Given the description of an element on the screen output the (x, y) to click on. 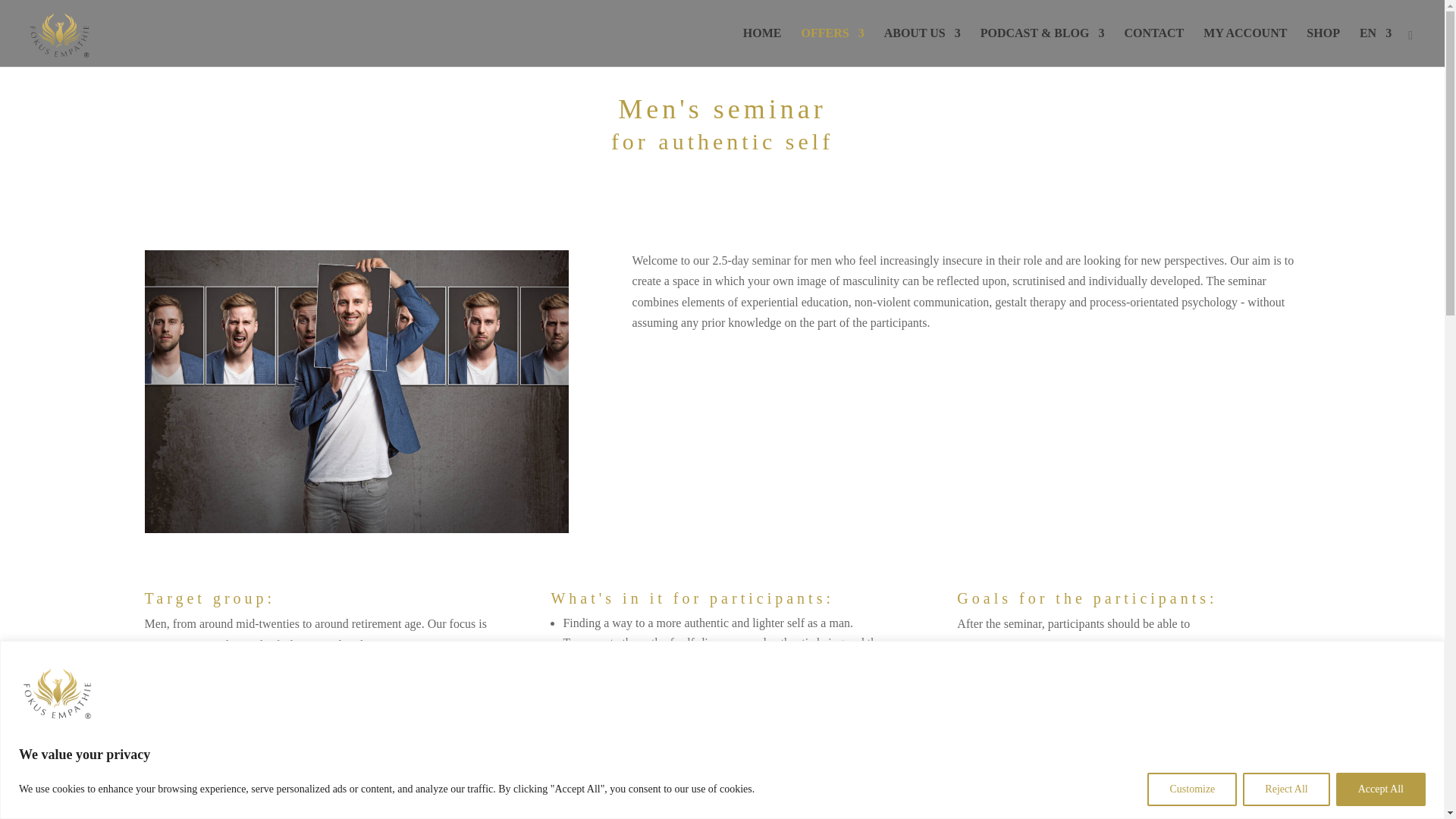
ABOUT US (921, 46)
Reject All (1286, 788)
Customize (1191, 788)
OFFERS (833, 46)
HOME (761, 46)
Accept All (1380, 788)
